Given the description of an element on the screen output the (x, y) to click on. 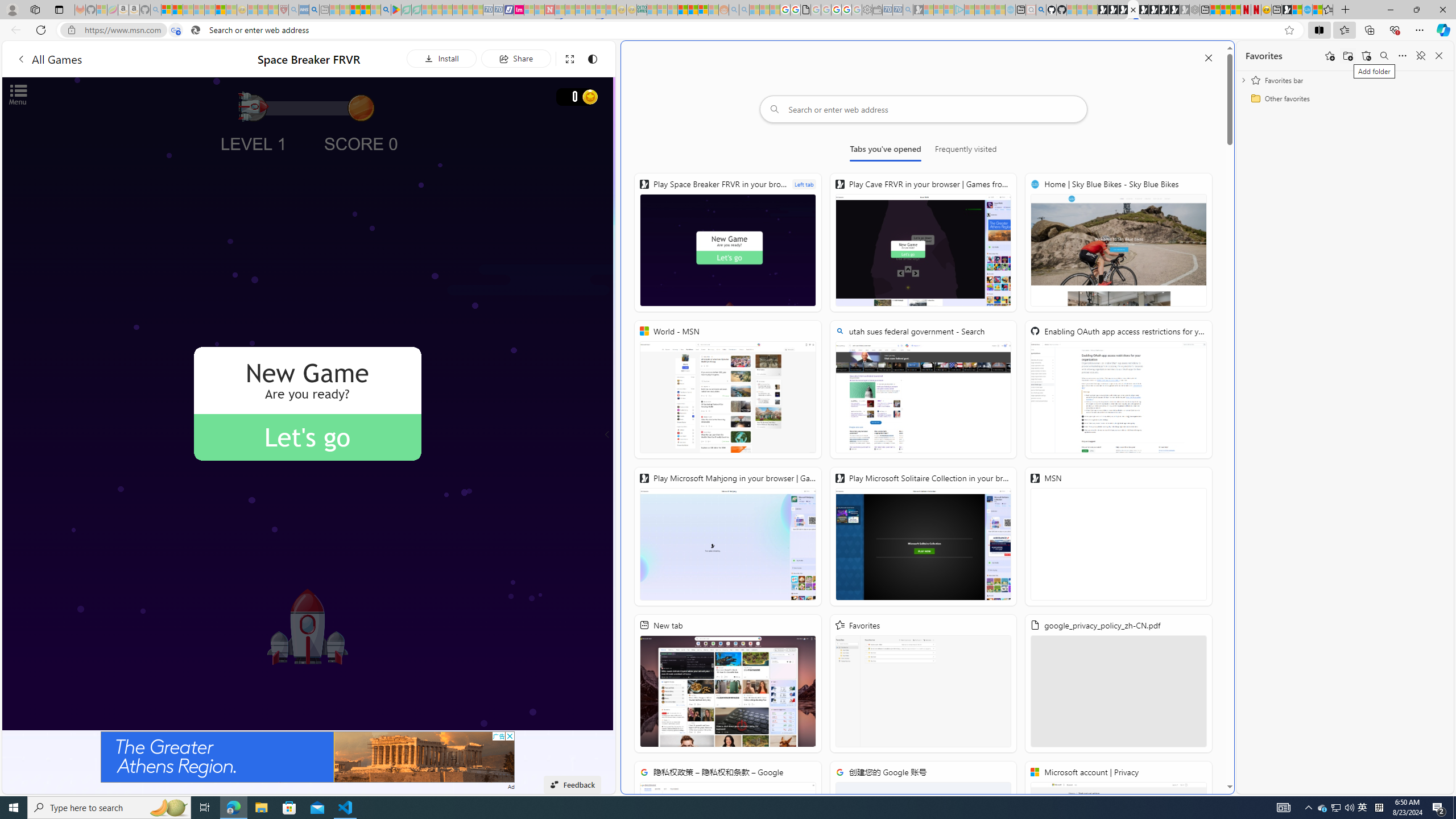
Install (441, 58)
utah sues federal government - Search (922, 389)
